Given the description of an element on the screen output the (x, y) to click on. 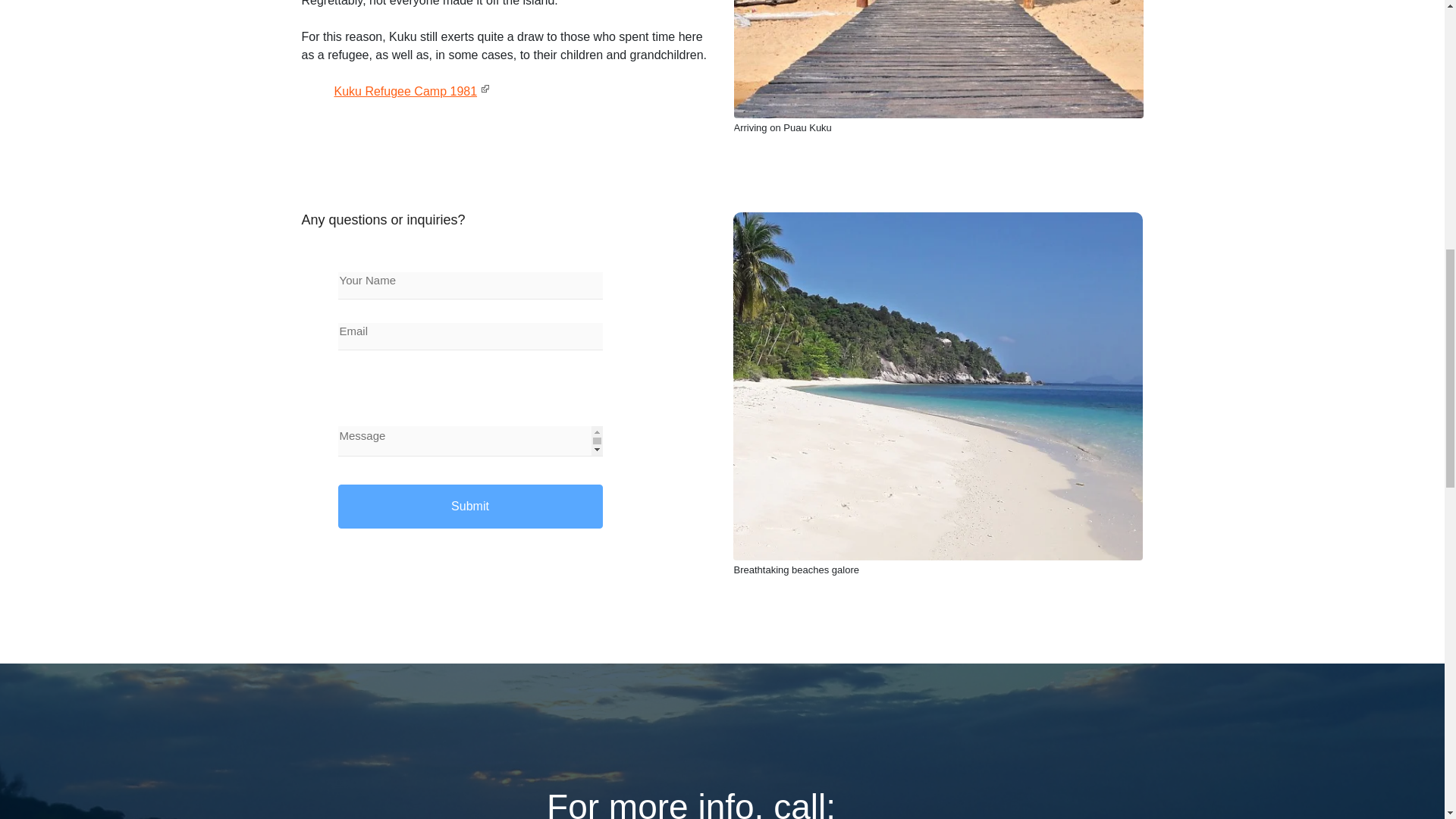
Kuku Refugee Camp 1981 (411, 91)
Submit (469, 506)
